Given the description of an element on the screen output the (x, y) to click on. 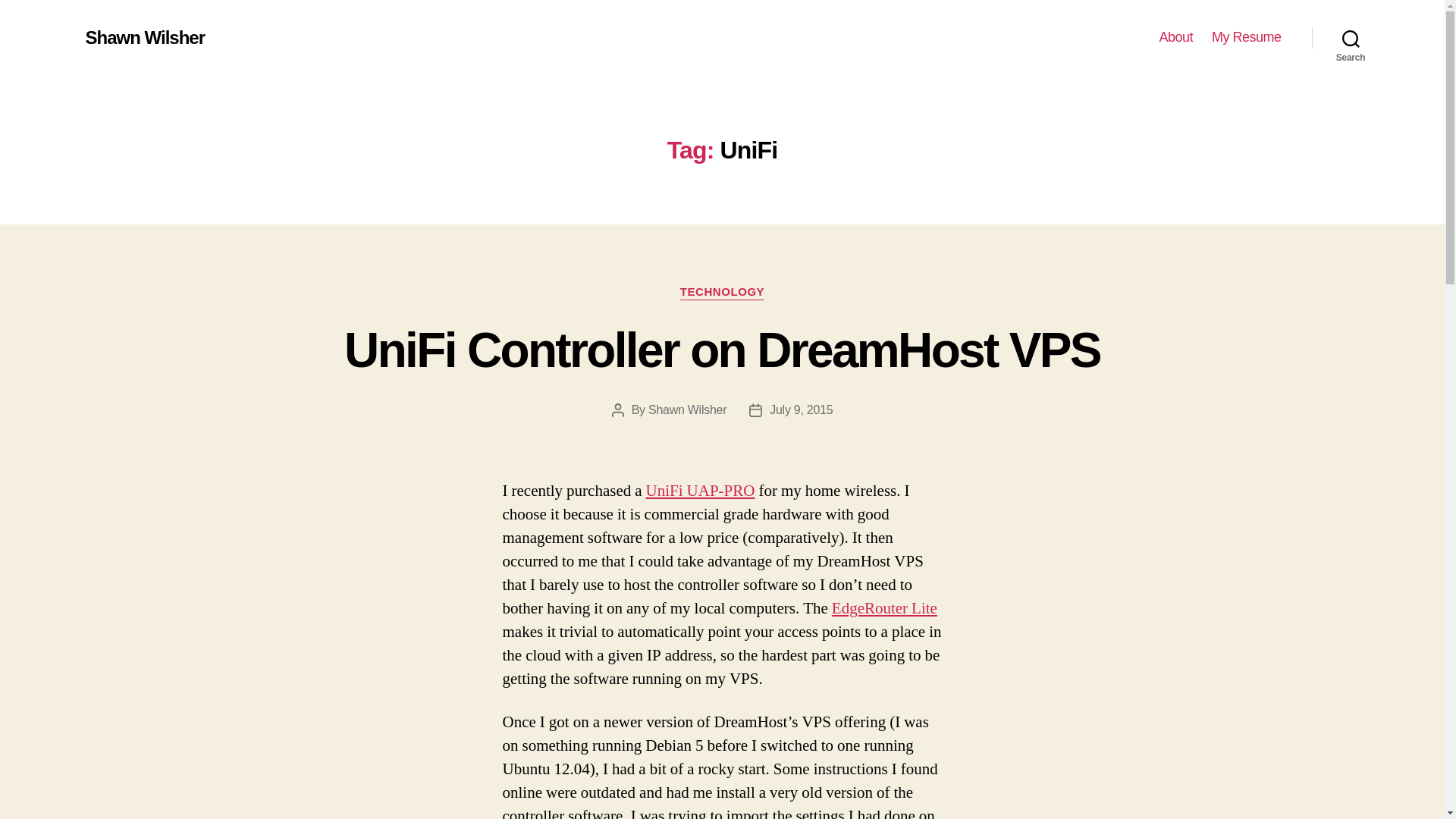
TECHNOLOGY (721, 292)
Shawn Wilsher (144, 37)
My Resume (1246, 37)
Shawn Wilsher (686, 409)
Search (1350, 37)
UniFi Controller on DreamHost VPS (721, 349)
About (1175, 37)
July 9, 2015 (801, 409)
UniFi UAP-PRO (700, 490)
EdgeRouter Lite (884, 608)
